Given the description of an element on the screen output the (x, y) to click on. 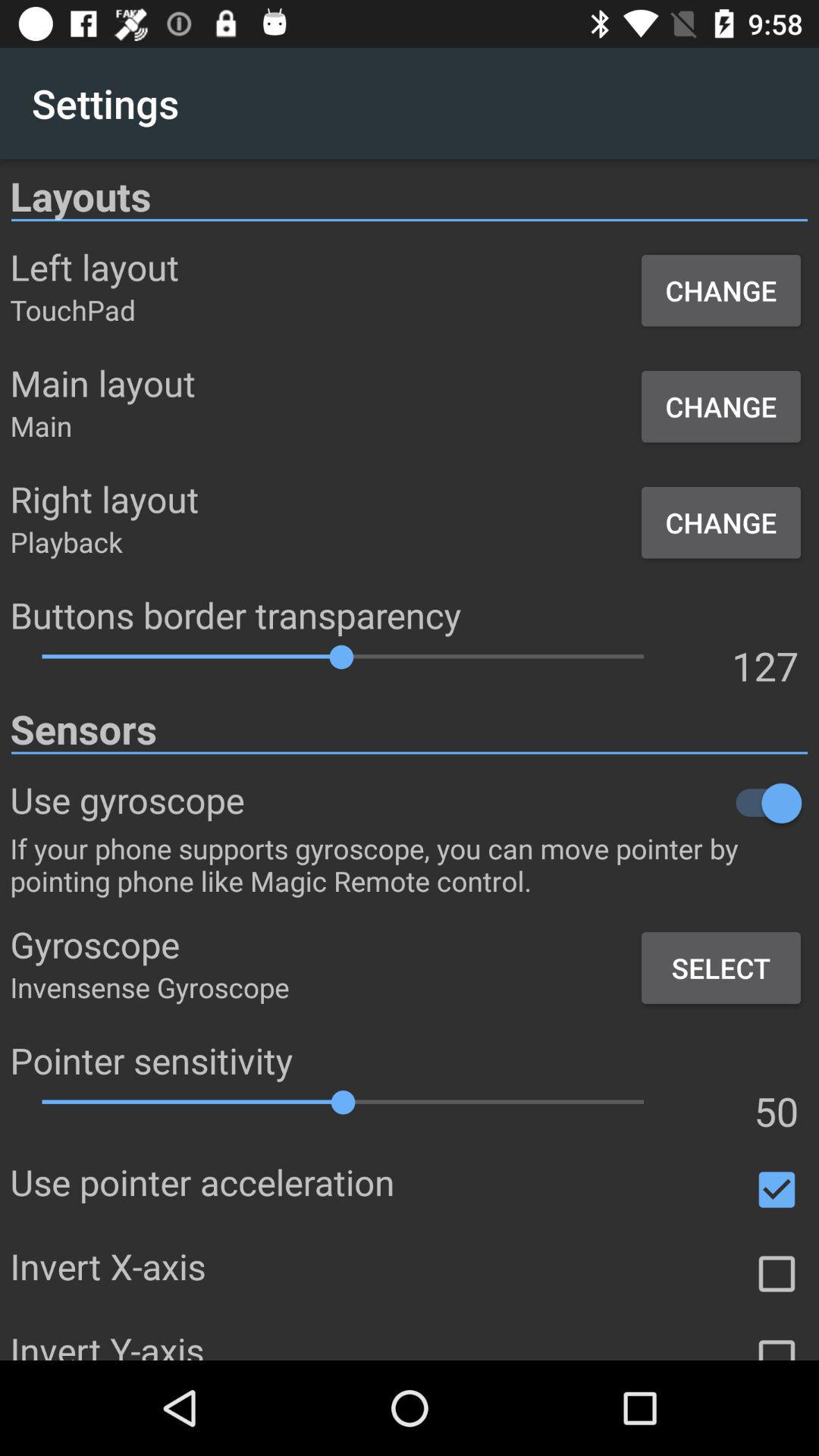
selection option (776, 1273)
